Given the description of an element on the screen output the (x, y) to click on. 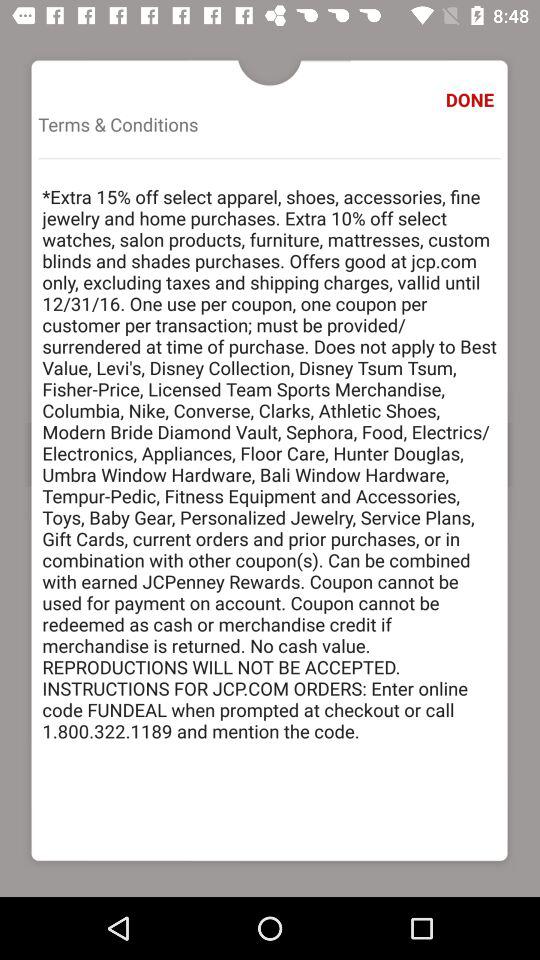
choose item to the right of the terms & conditions (472, 99)
